Given the description of an element on the screen output the (x, y) to click on. 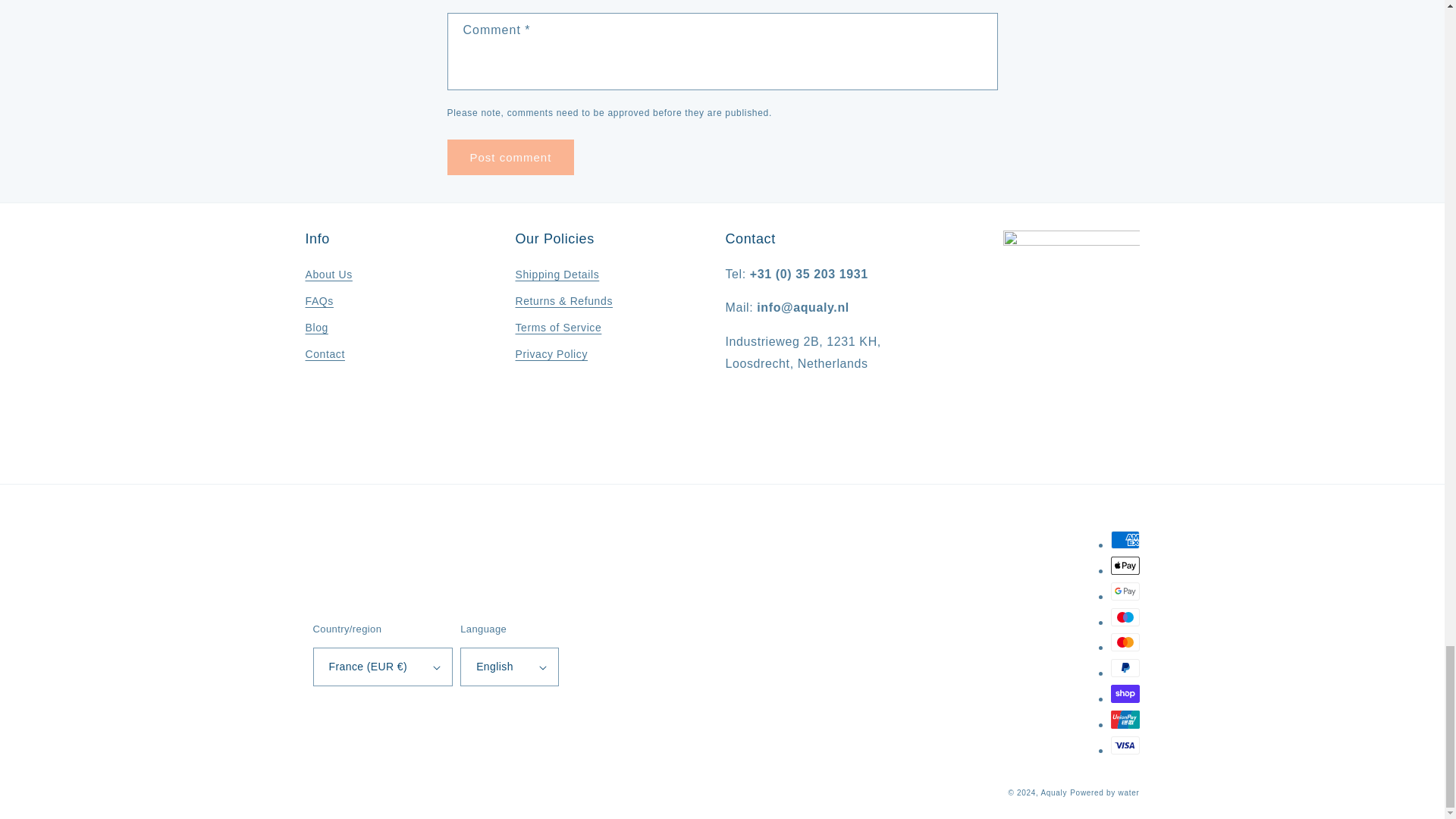
PayPal (1123, 668)
Post comment (510, 157)
Visa (1123, 745)
Apple Pay (1123, 565)
Mastercard (1123, 642)
American Express (1123, 539)
Shop Pay (1123, 693)
Maestro (1123, 617)
Google Pay (1123, 591)
Union Pay (1123, 719)
